Given the description of an element on the screen output the (x, y) to click on. 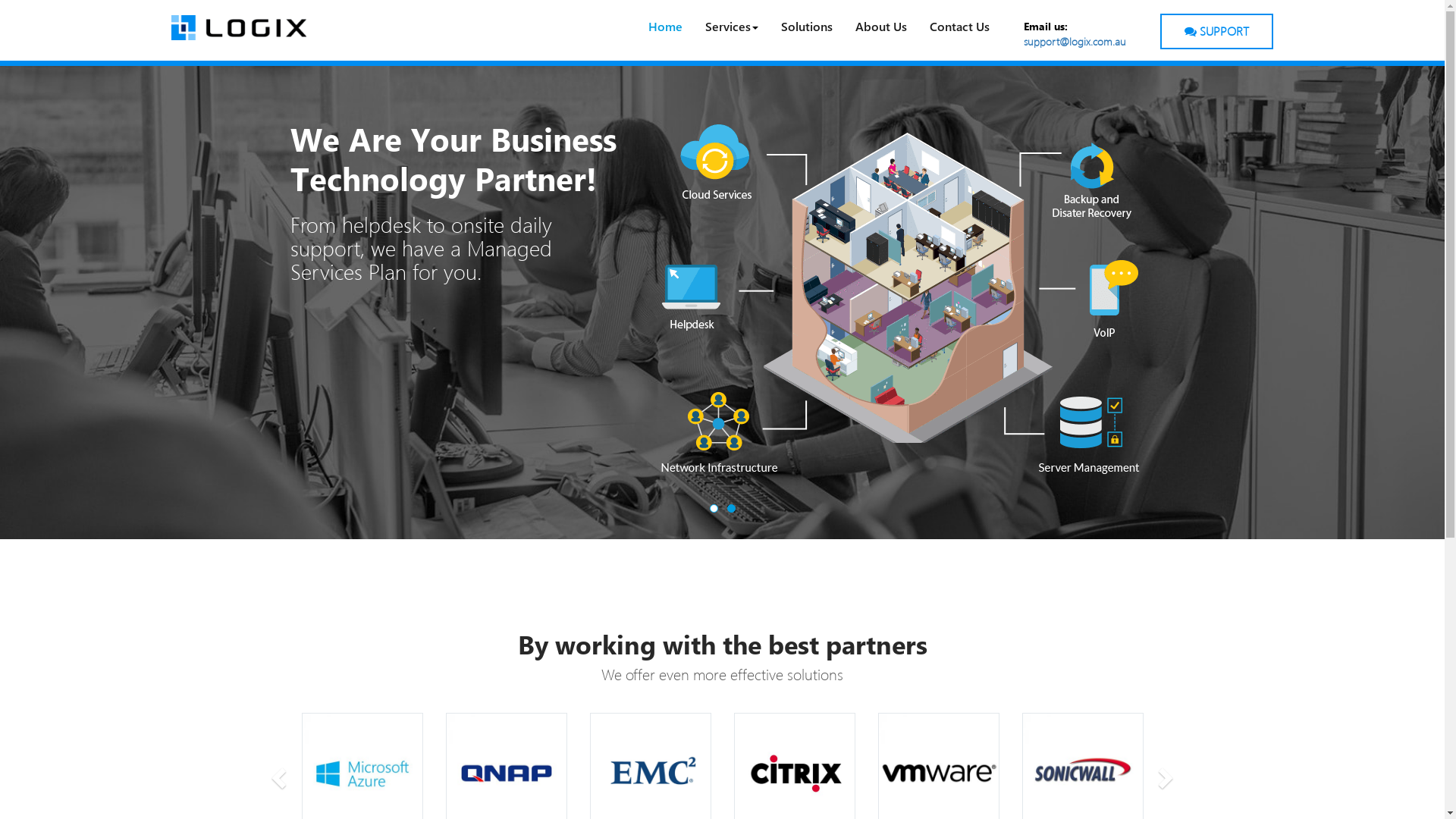
support@logix.com.au Element type: text (1074, 41)
Services Element type: text (731, 26)
SUPPORT Element type: text (1216, 31)
Solutions Element type: text (806, 26)
Home
(Current) Element type: text (665, 26)
Contact Us Element type: text (959, 26)
About Us Element type: text (881, 26)
